Given the description of an element on the screen output the (x, y) to click on. 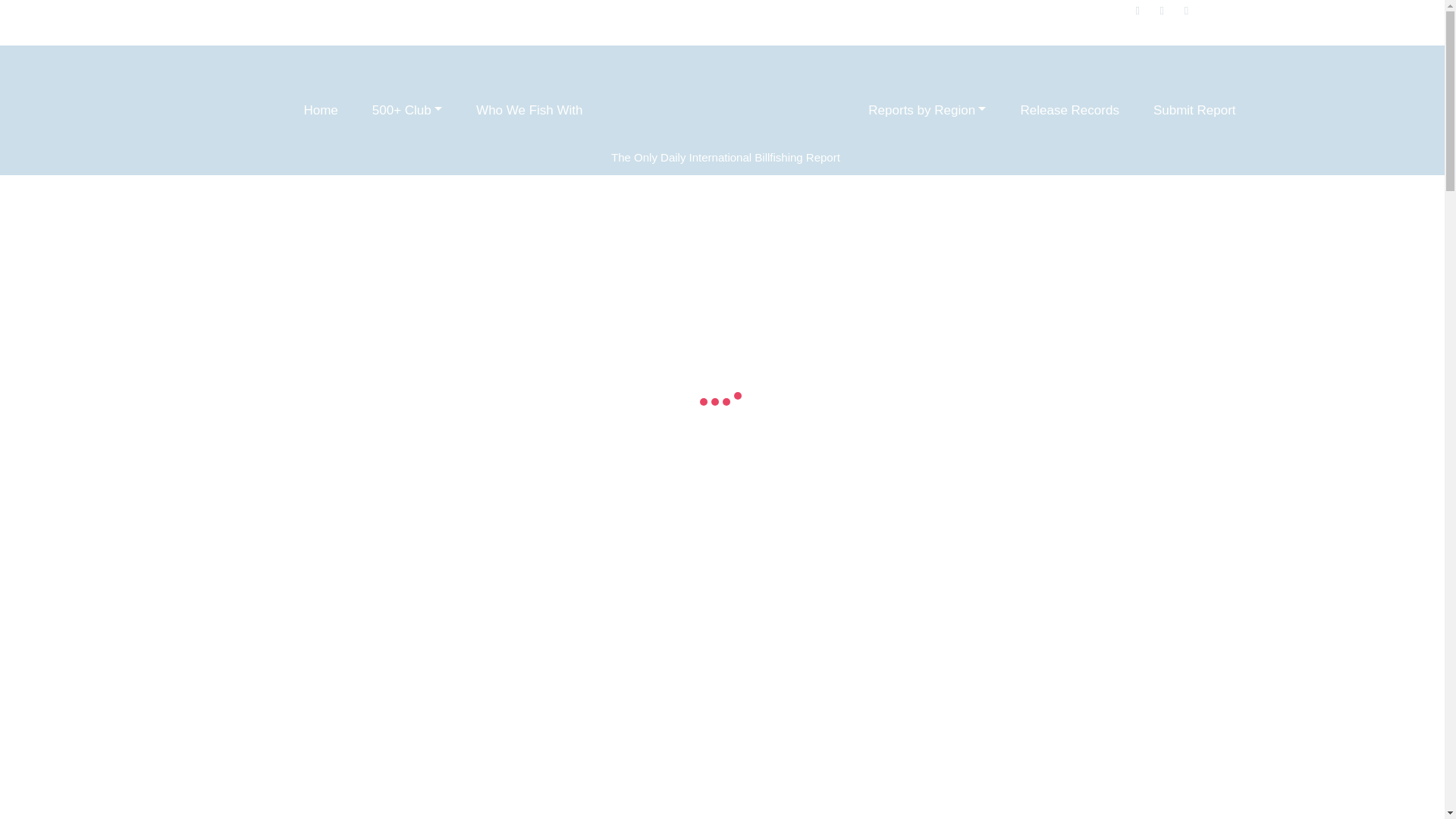
Who We Fish With (529, 109)
Submit Report (1194, 109)
Home (320, 109)
Reports by Region (927, 109)
Release Records (1069, 109)
